Given the description of an element on the screen output the (x, y) to click on. 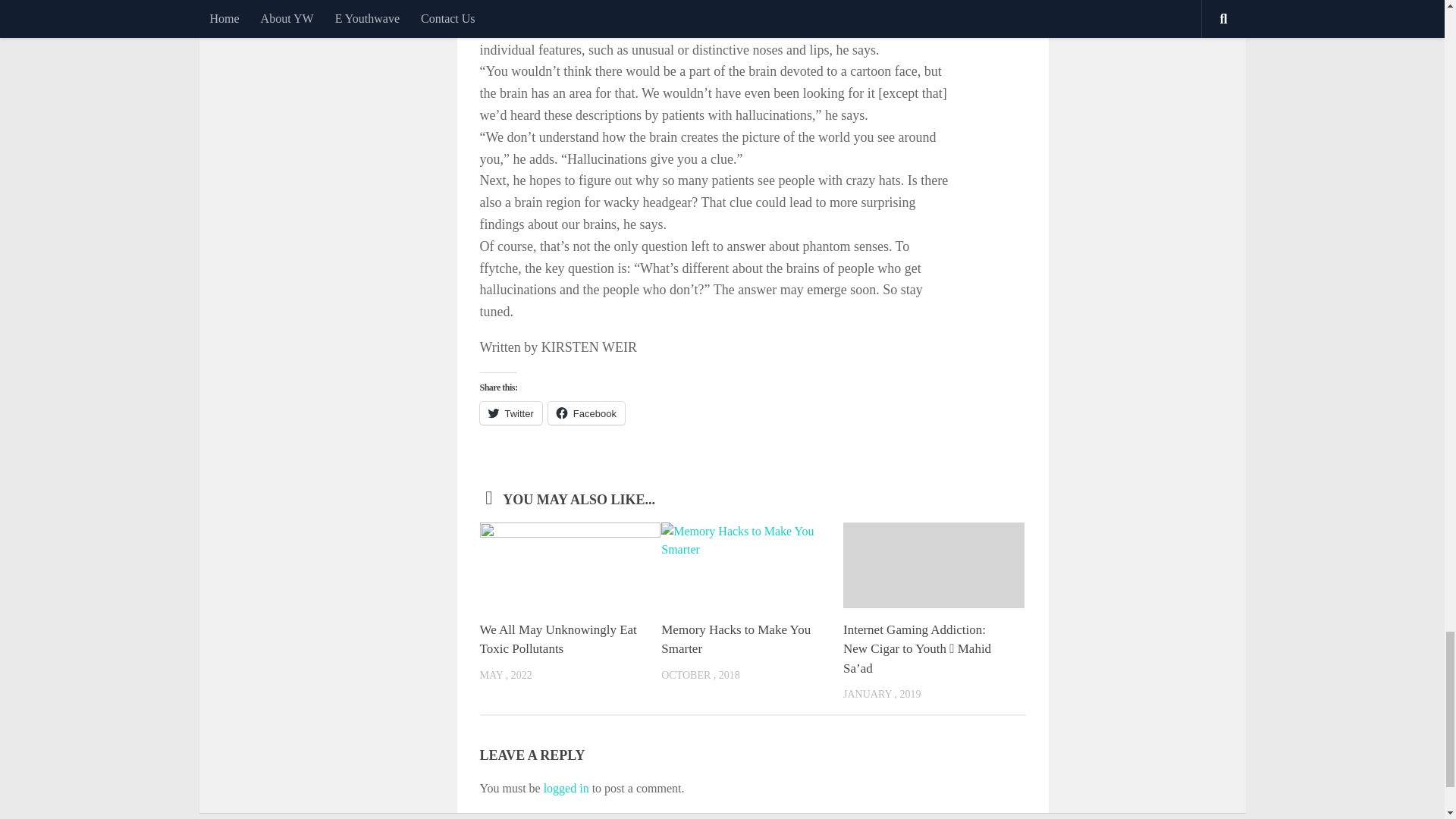
Click to share on Facebook (586, 413)
Click to share on Twitter (510, 413)
